Given the description of an element on the screen output the (x, y) to click on. 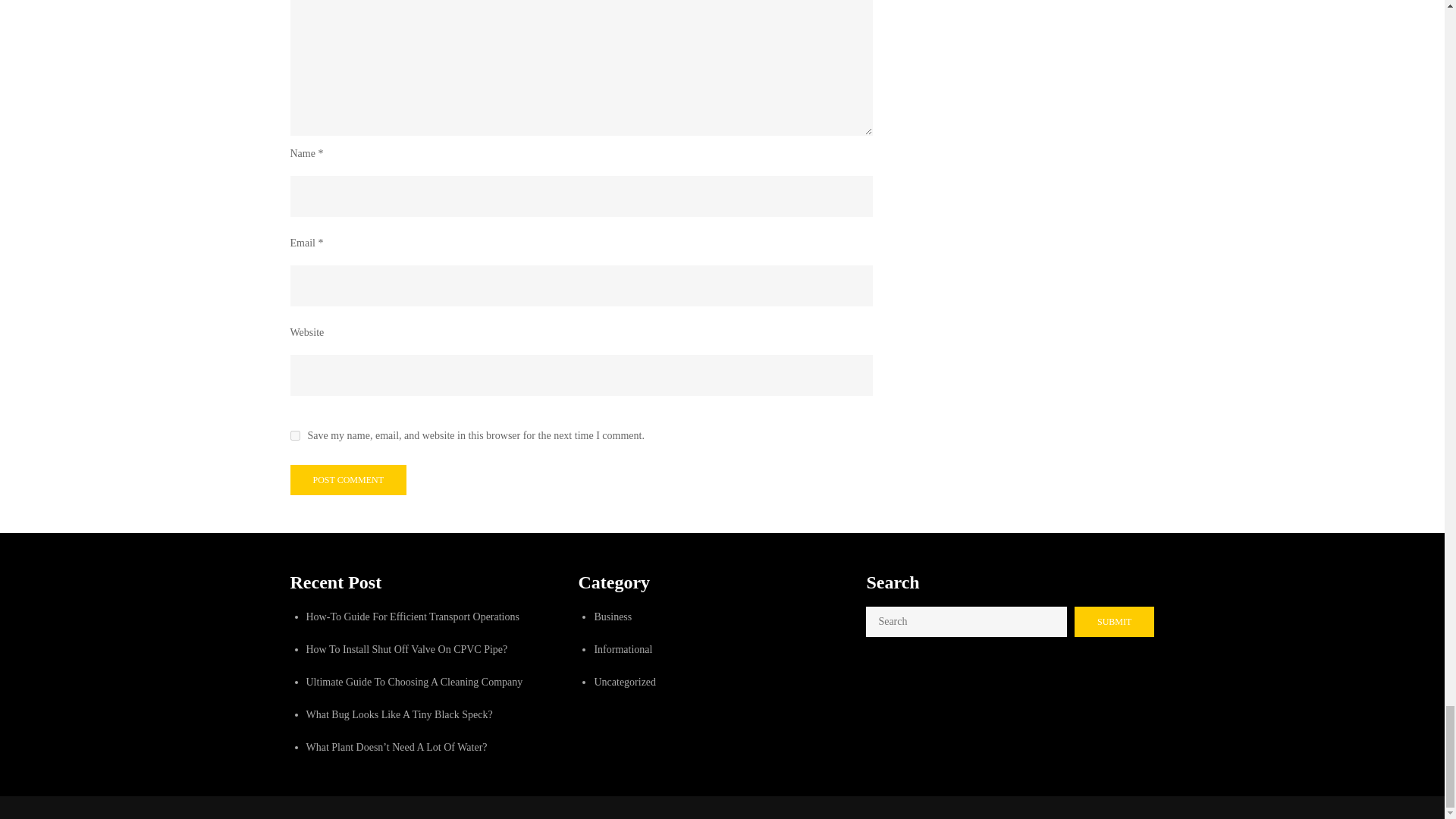
Ultimate Guide To Choosing A Cleaning Company (413, 681)
Business (612, 616)
Informational (623, 649)
Post Comment (347, 480)
Uncategorized (625, 681)
How-To Guide For Efficient Transport Operations (412, 616)
yes (294, 435)
How To Install Shut Off Valve On CPVC Pipe? (406, 649)
SUBMIT (1114, 621)
Post Comment (347, 480)
